Given the description of an element on the screen output the (x, y) to click on. 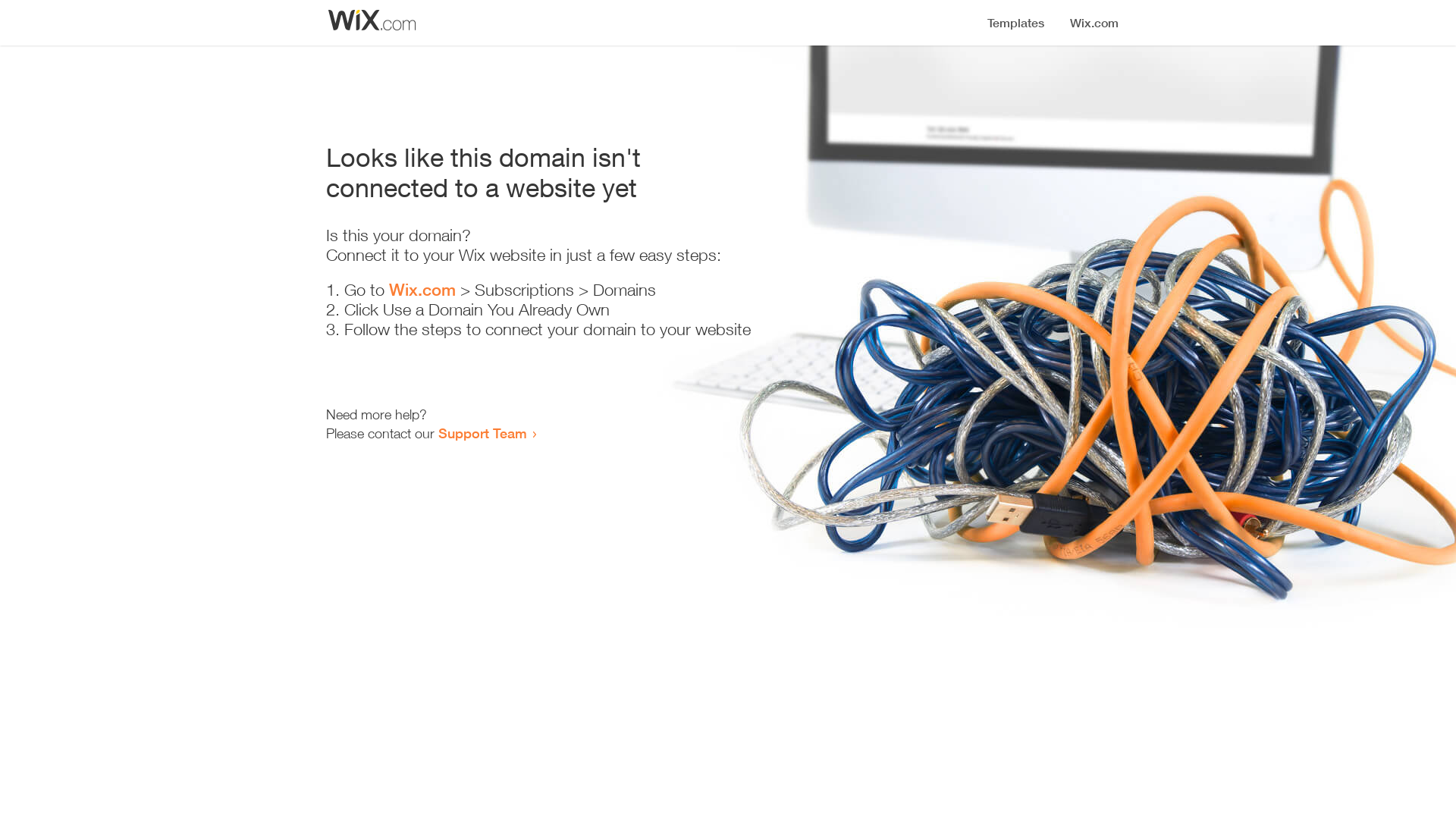
Support Team Element type: text (482, 432)
Wix.com Element type: text (422, 289)
